Given the description of an element on the screen output the (x, y) to click on. 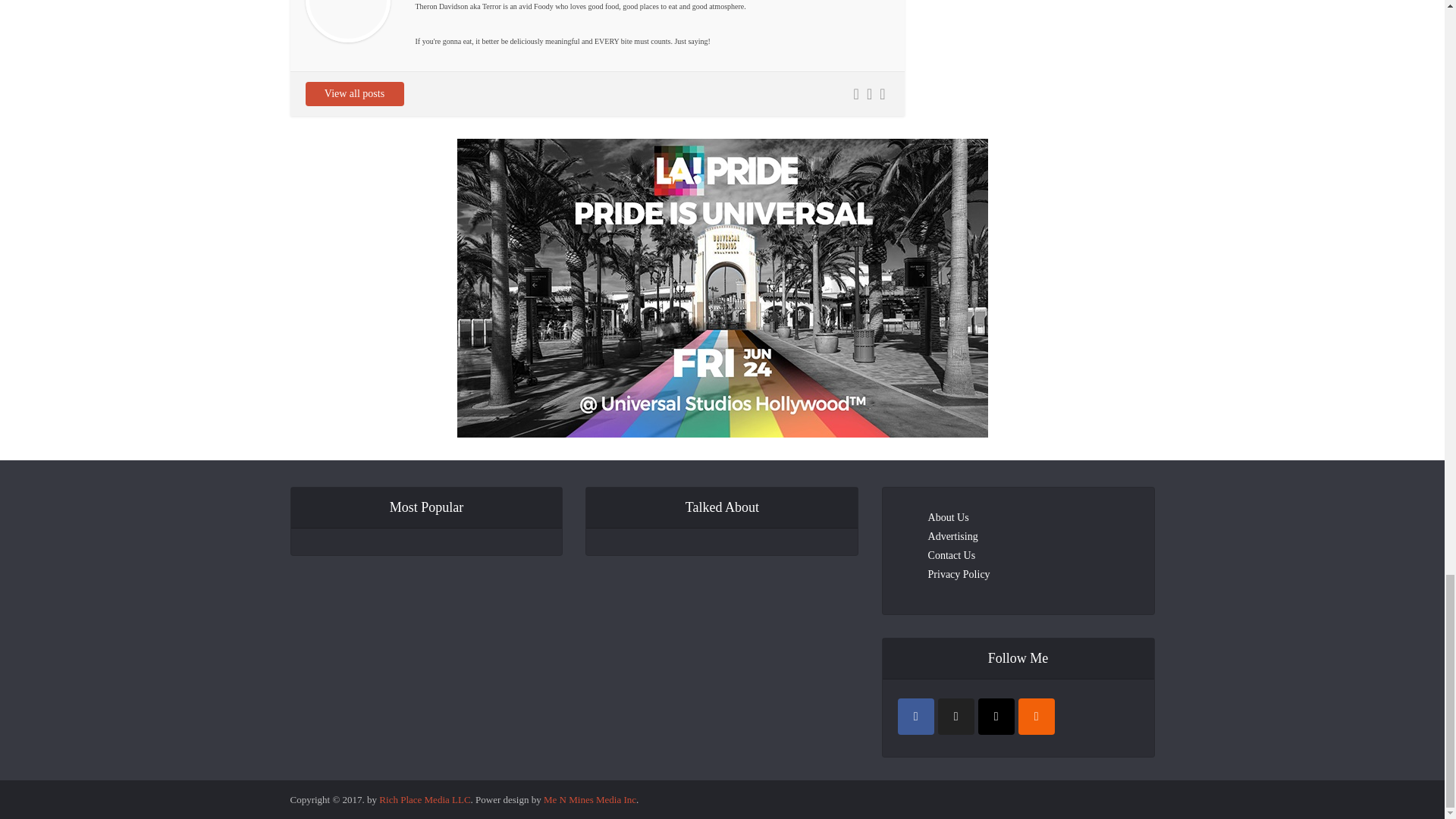
View all posts (353, 93)
